Given the description of an element on the screen output the (x, y) to click on. 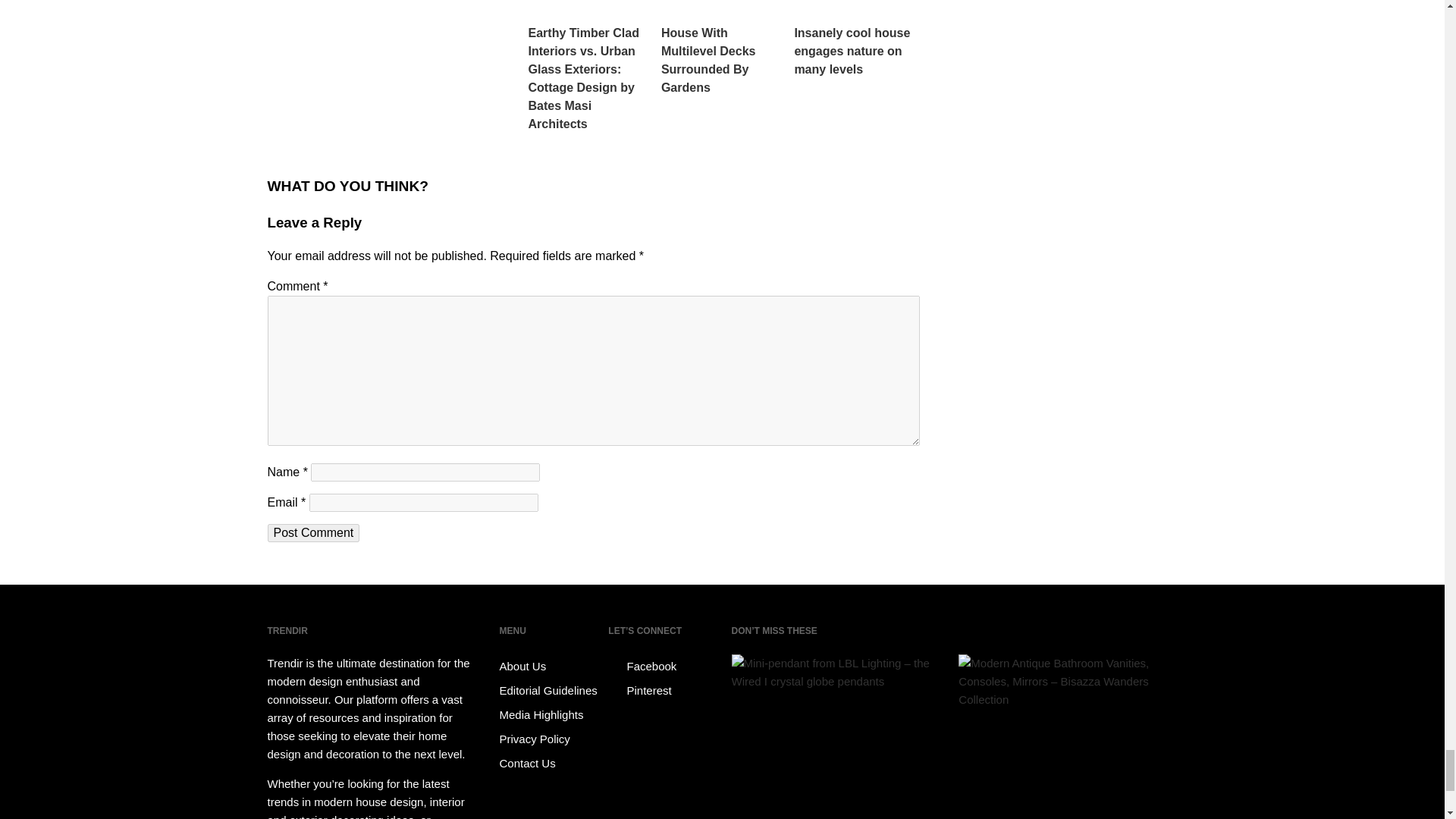
About Us - Trendir (551, 665)
House With Multilevel Decks Surrounded By Gardens (723, 48)
House With Multilevel Decks Surrounded By Gardens (723, 48)
Post Comment (312, 533)
Media Highlights - Trendir (551, 713)
Insanely cool house engages nature on many levels (855, 39)
Trendir Editorial Guidelines (551, 689)
